Given the description of an element on the screen output the (x, y) to click on. 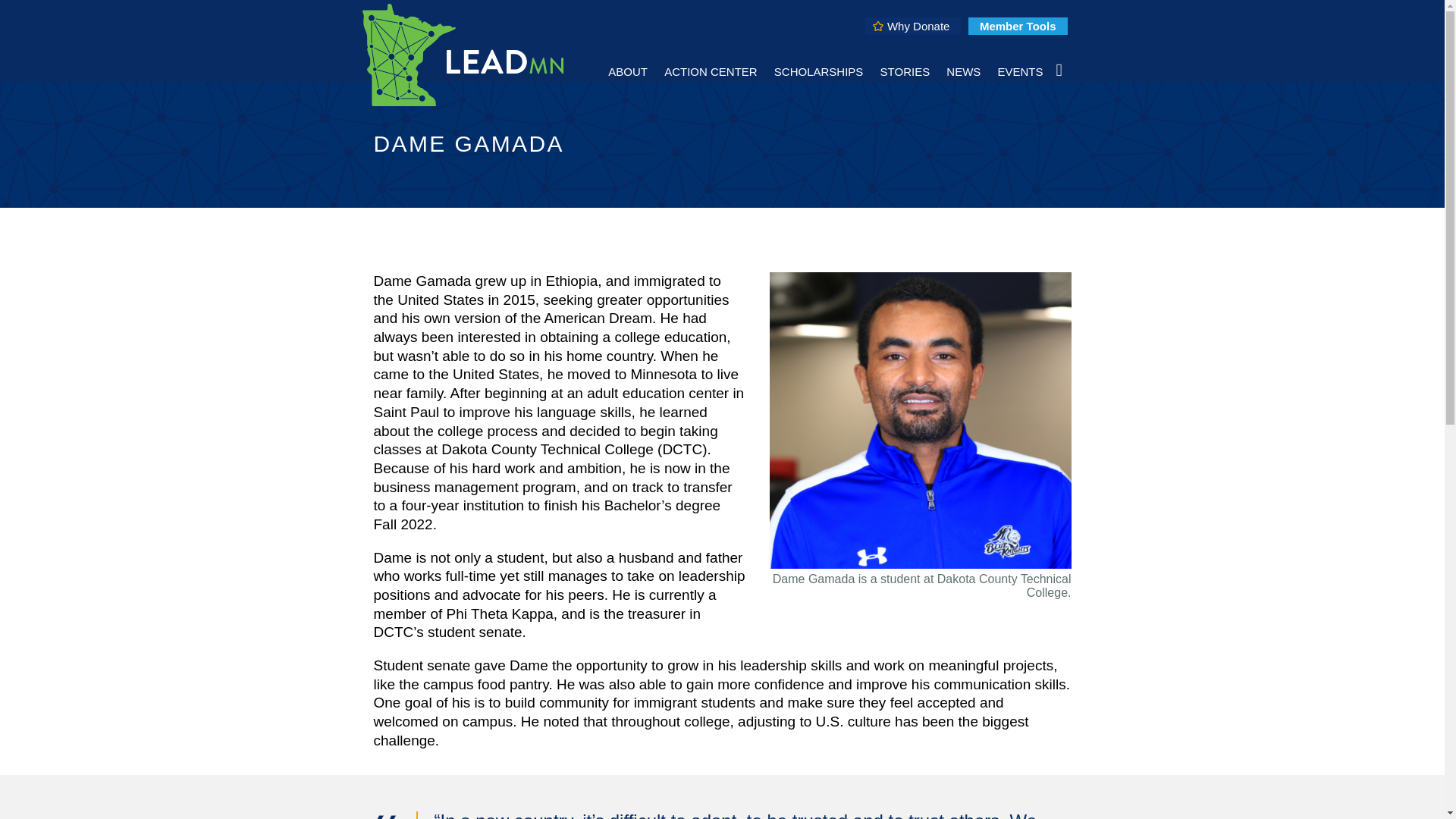
NEWS (963, 70)
STORIES (905, 70)
ACTION CENTER (711, 70)
EVENTS (1019, 70)
ABOUT (627, 70)
SCHOLARSHIPS (818, 70)
